Given the description of an element on the screen output the (x, y) to click on. 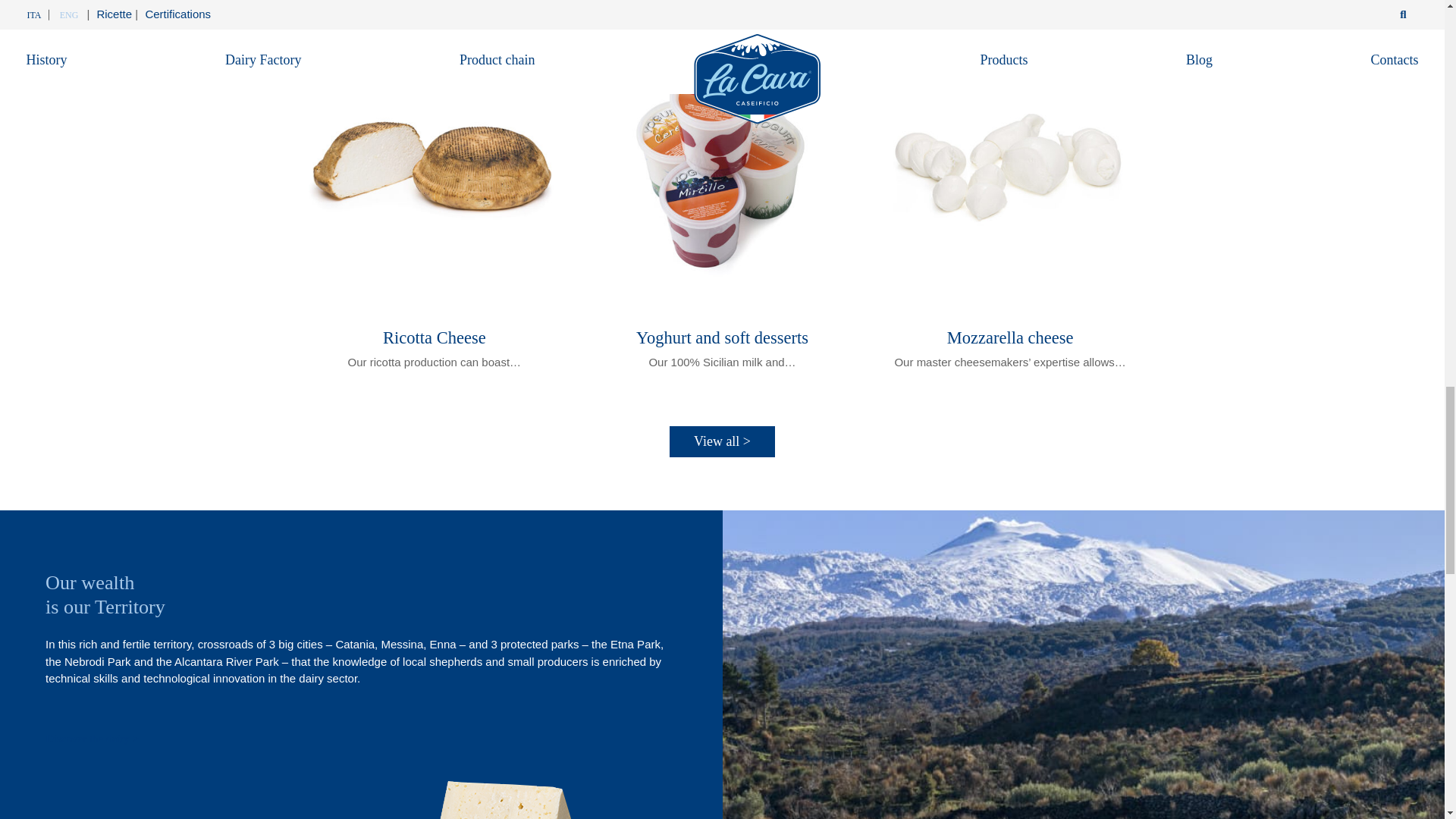
View all (721, 441)
